Given the description of an element on the screen output the (x, y) to click on. 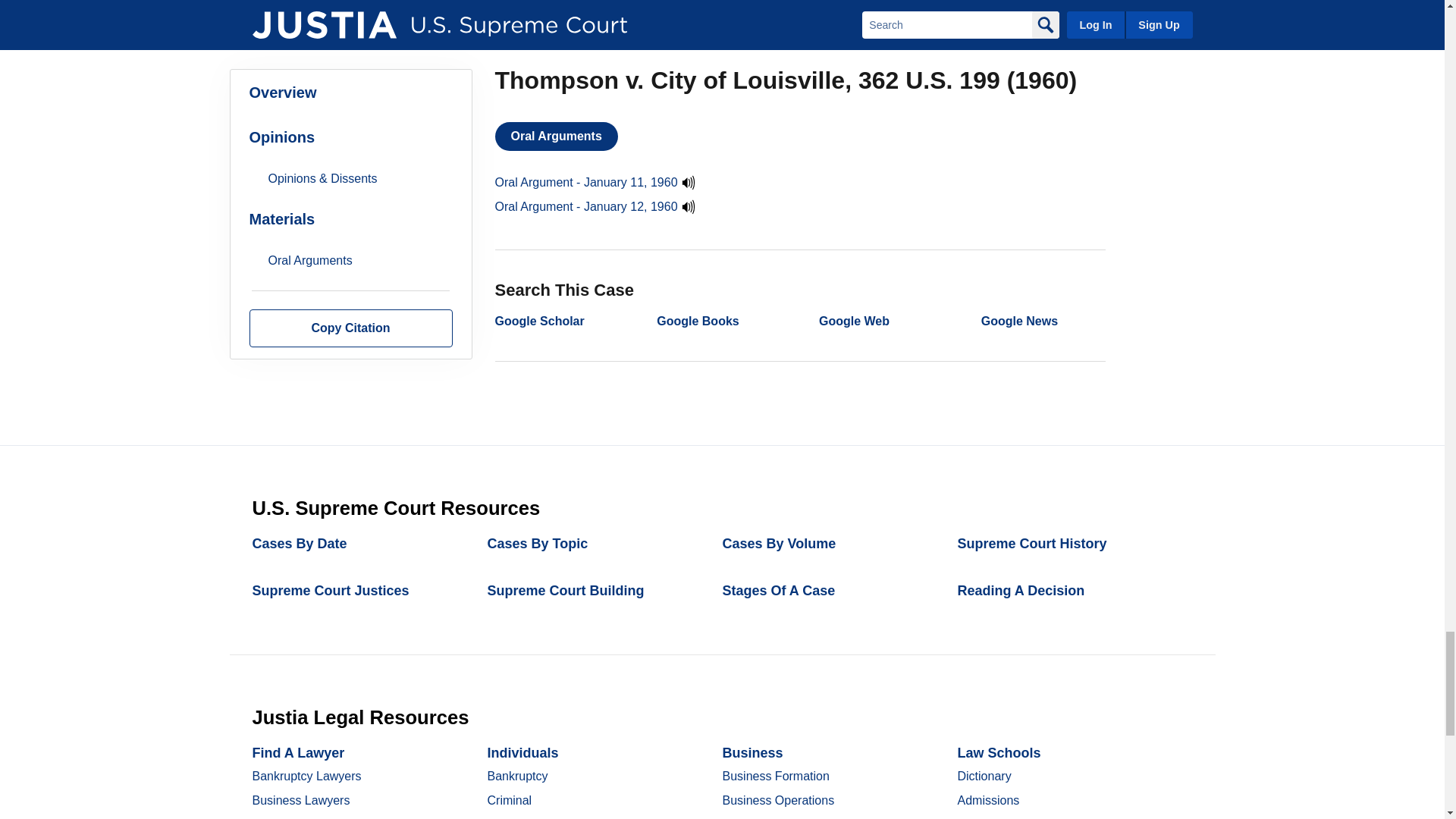
Law - Google Web (853, 320)
Law - Google Scholar (539, 320)
Law - Google Books (697, 320)
Law - Google News (1019, 320)
